Given the description of an element on the screen output the (x, y) to click on. 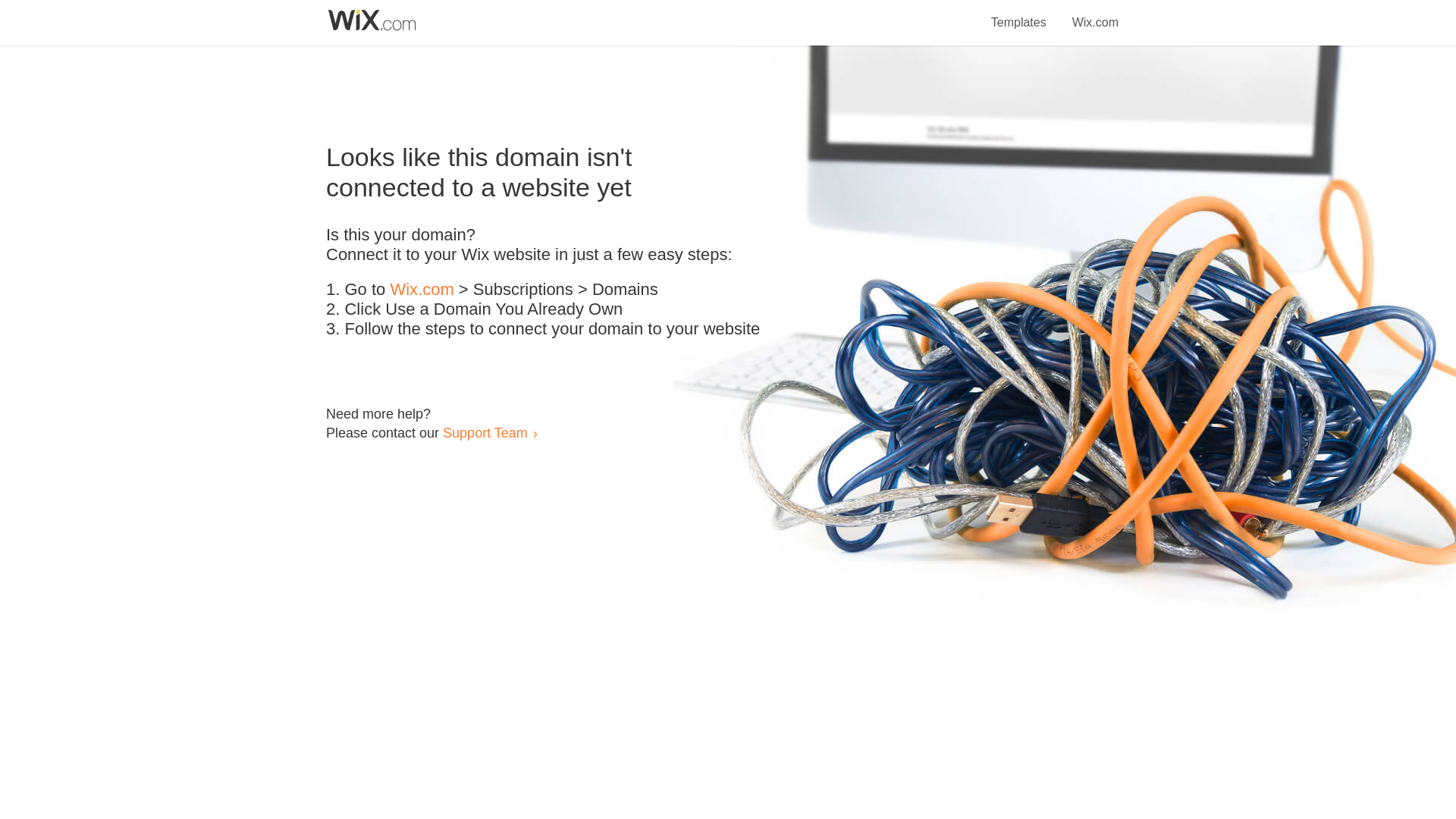
Wix.com (421, 289)
Templates (1018, 14)
Support Team (484, 432)
Wix.com (1095, 14)
